Given the description of an element on the screen output the (x, y) to click on. 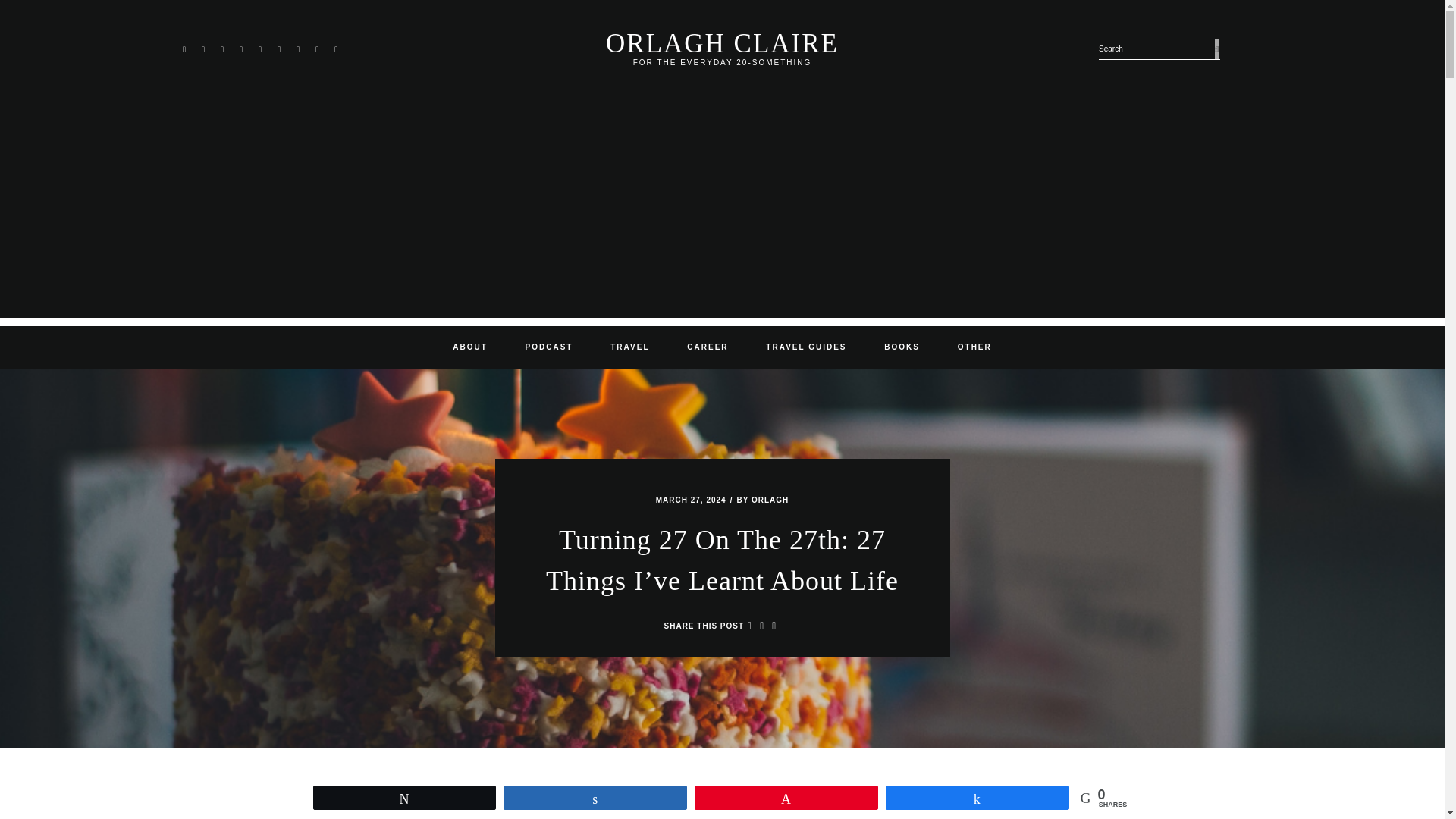
PODCAST (549, 346)
ORLAGH CLAIRE (721, 43)
TRAVEL (629, 346)
ABOUT (470, 346)
